Given the description of an element on the screen output the (x, y) to click on. 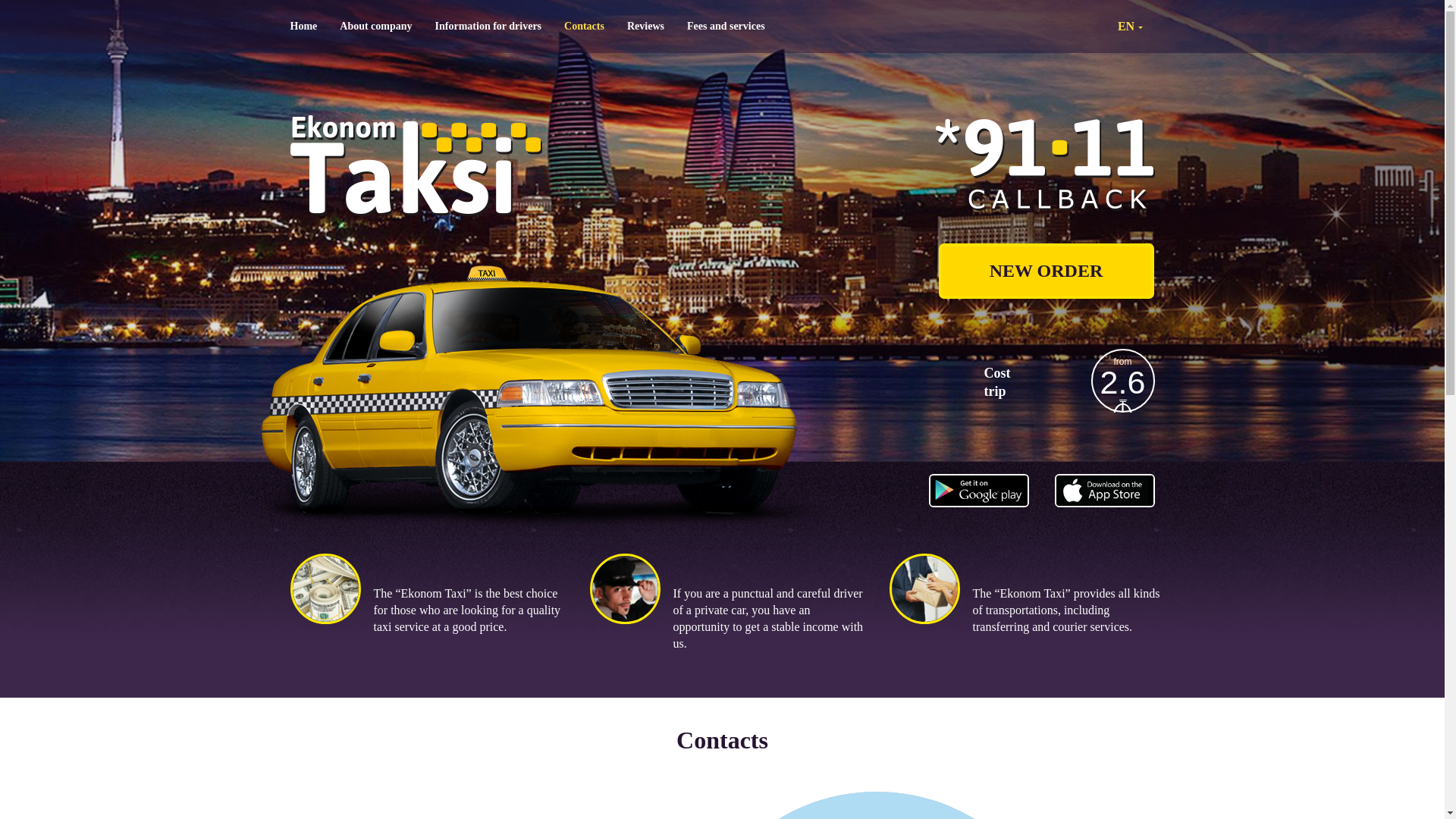
About company Element type: text (375, 26)
Home Element type: text (304, 26)
Contacts Element type: text (583, 26)
Fees and services Element type: text (725, 26)
Information for drivers Element type: text (488, 26)
Reviews Element type: text (645, 26)
NEW ORDER Element type: text (1046, 270)
